Given the description of an element on the screen output the (x, y) to click on. 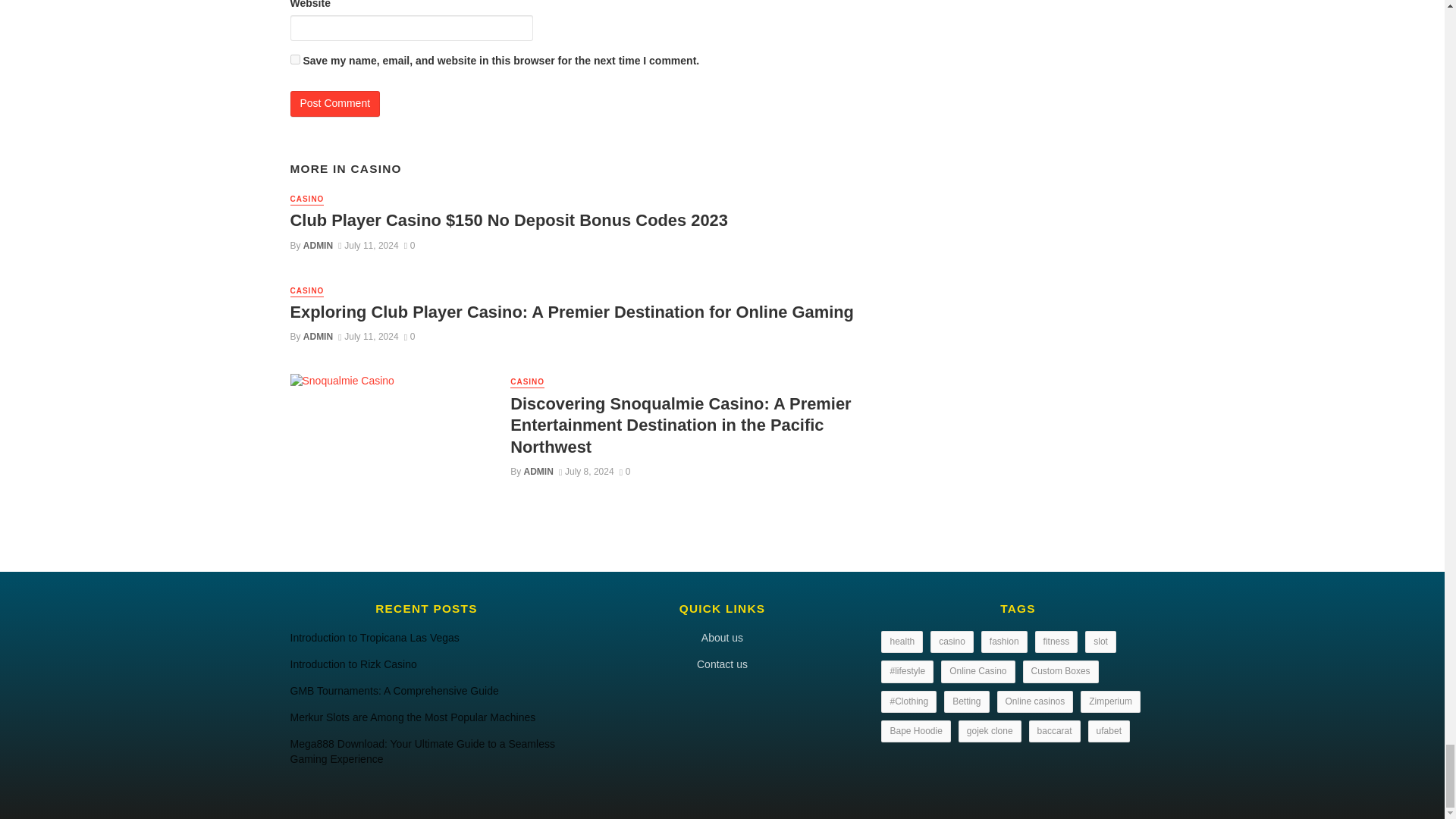
yes (294, 59)
Post Comment (334, 103)
